Given the description of an element on the screen output the (x, y) to click on. 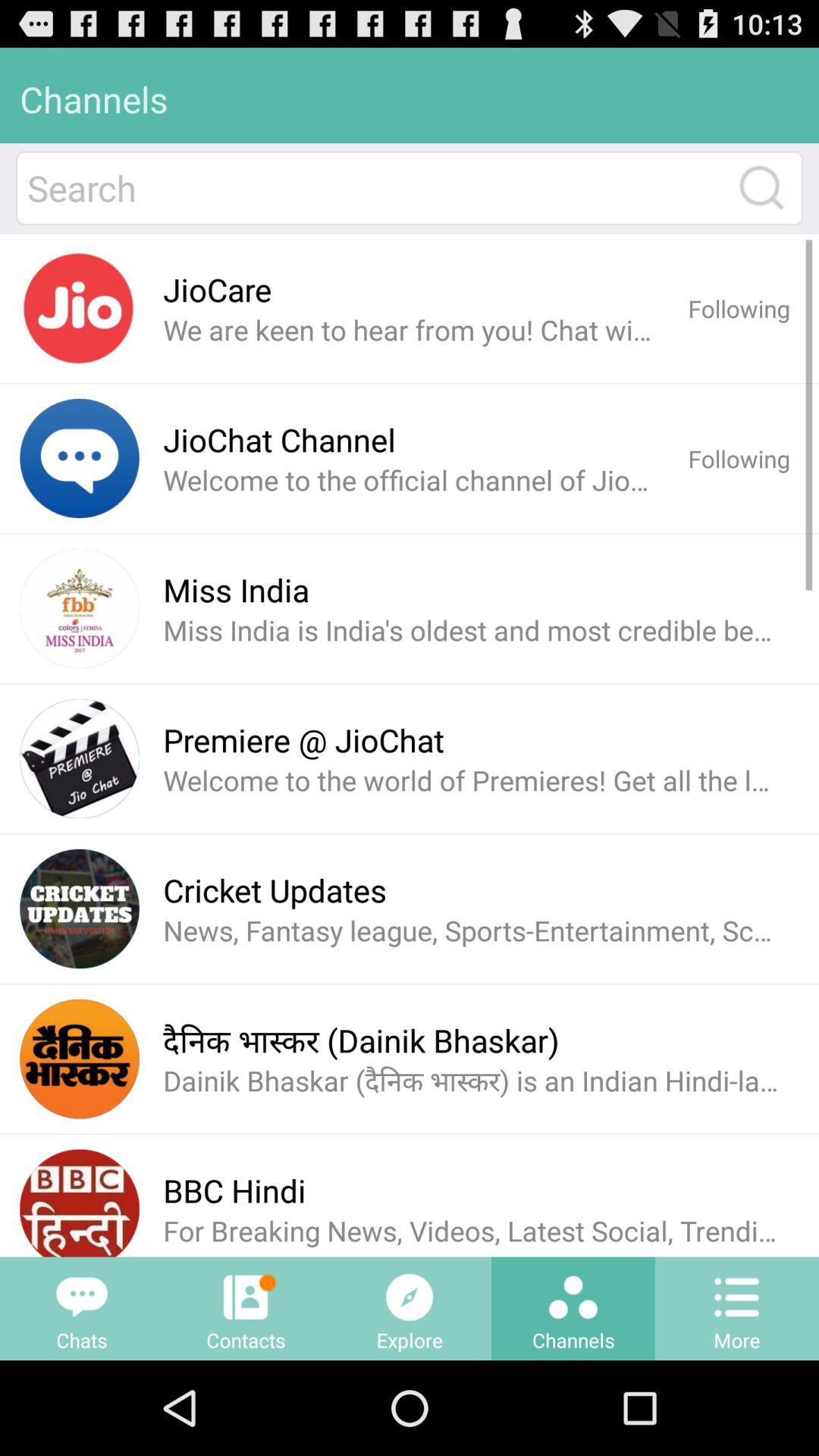
search for a name (374, 188)
